Given the description of an element on the screen output the (x, y) to click on. 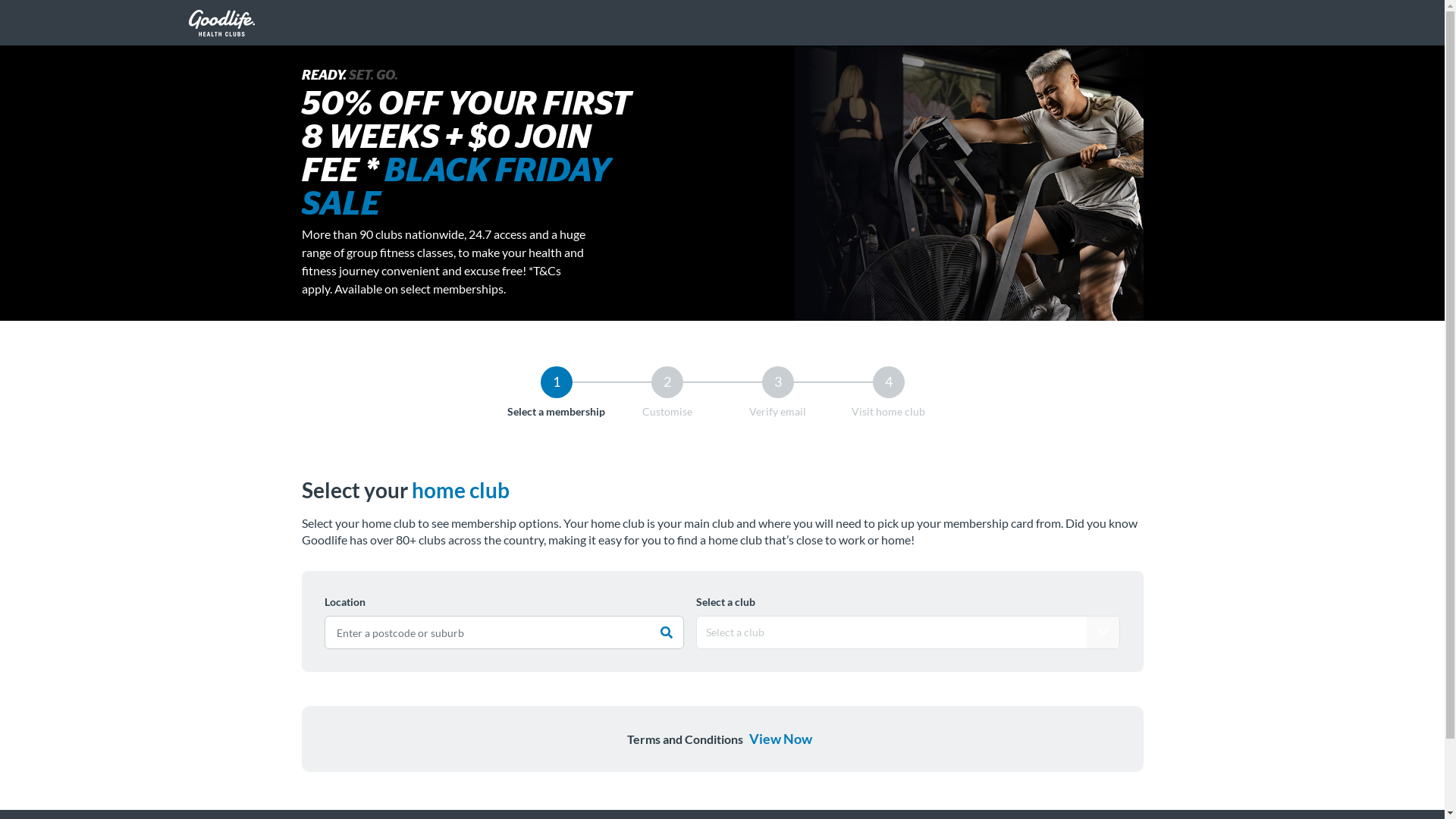
View Now Element type: text (780, 738)
